Given the description of an element on the screen output the (x, y) to click on. 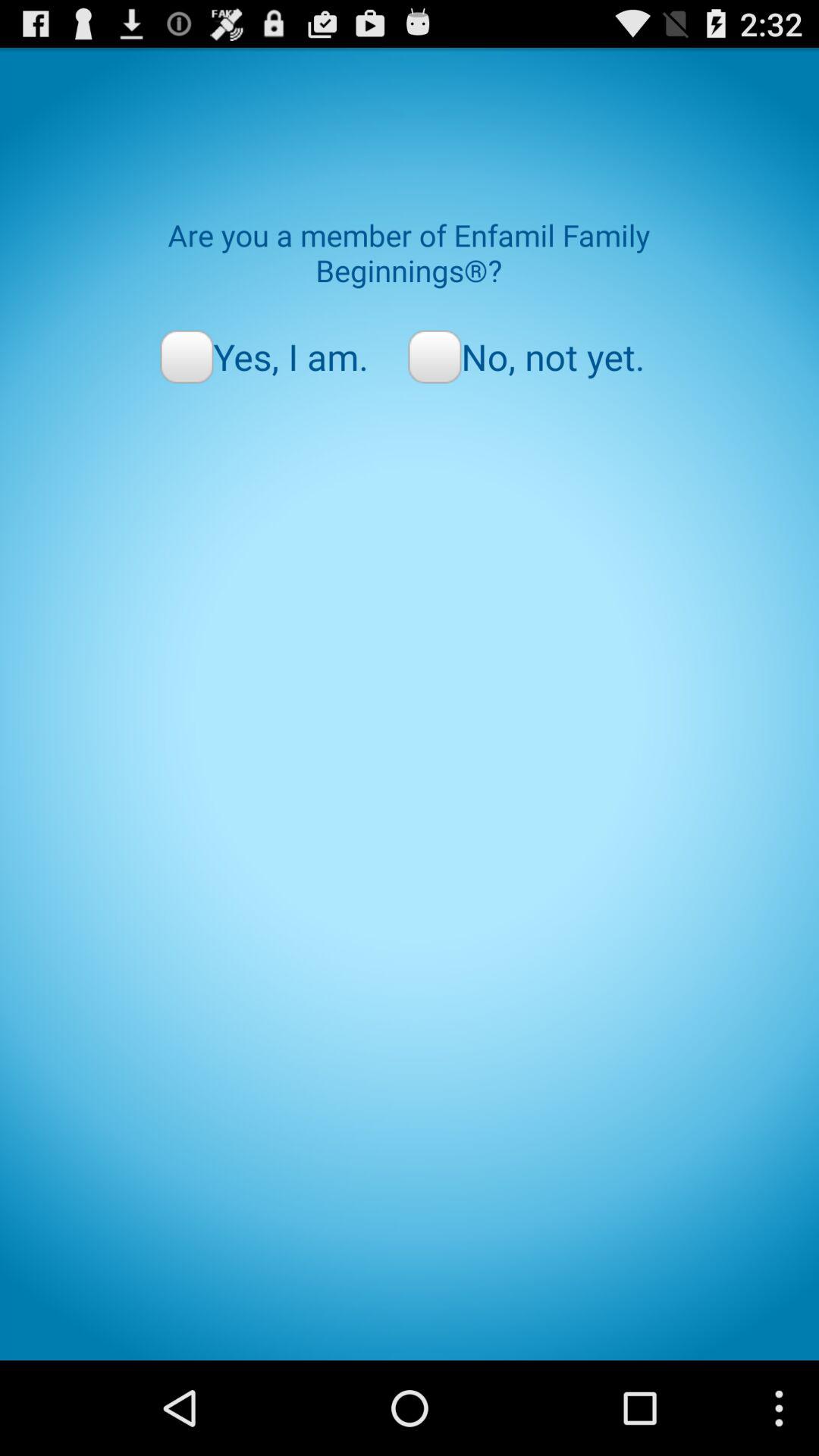
turn off the no, not yet. radio button (526, 356)
